Given the description of an element on the screen output the (x, y) to click on. 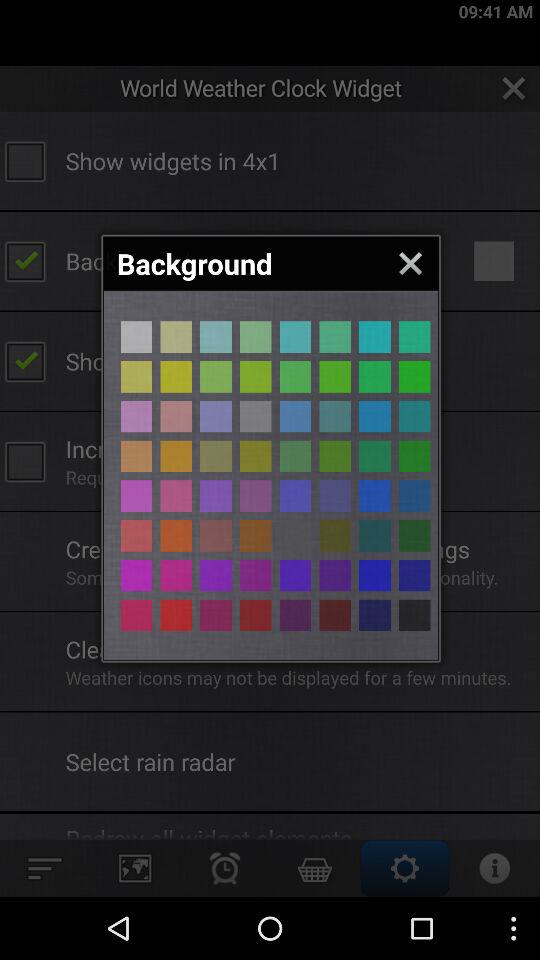
color selection (414, 495)
